Given the description of an element on the screen output the (x, y) to click on. 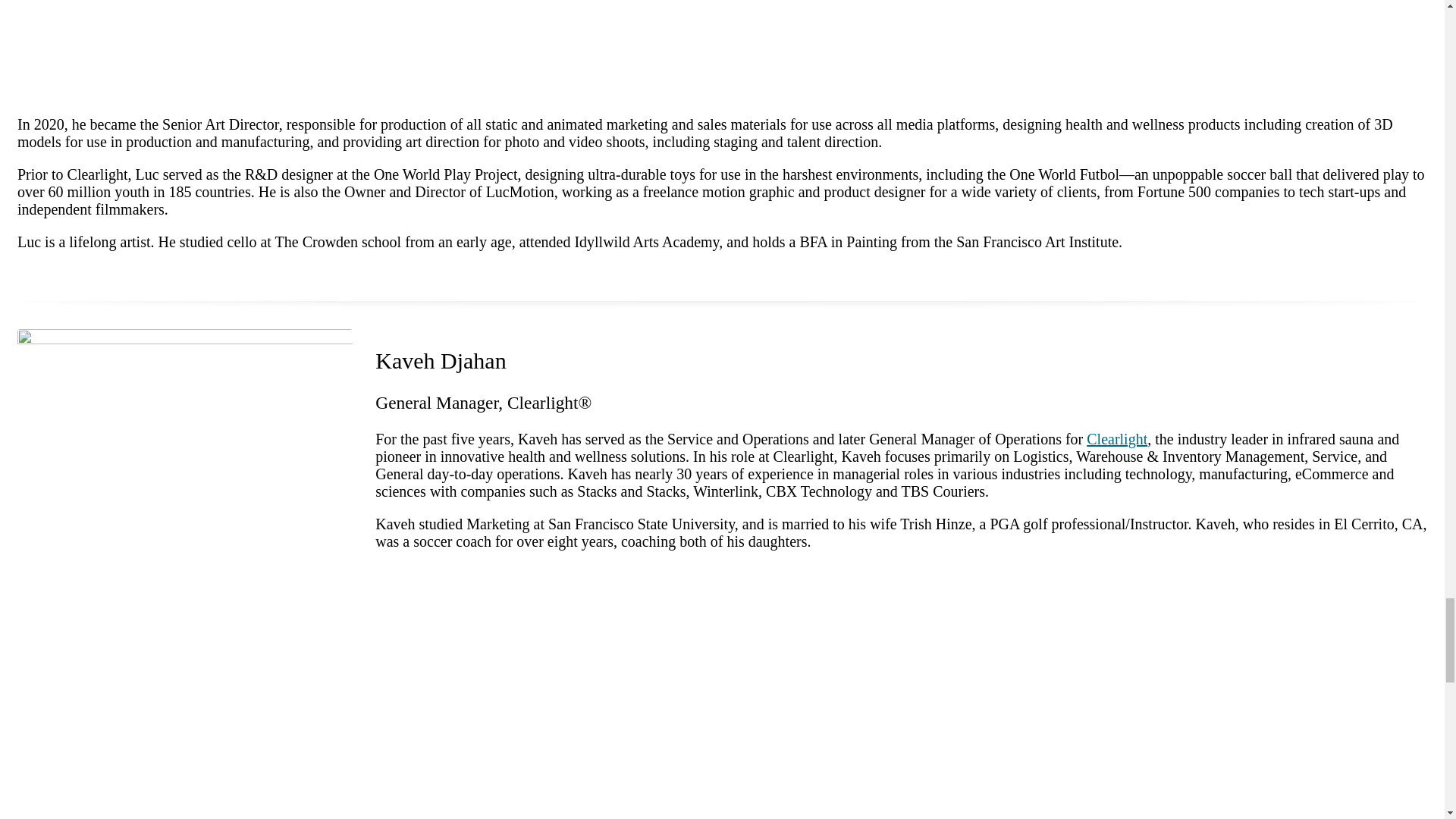
Clearlight (1116, 438)
